Given the description of an element on the screen output the (x, y) to click on. 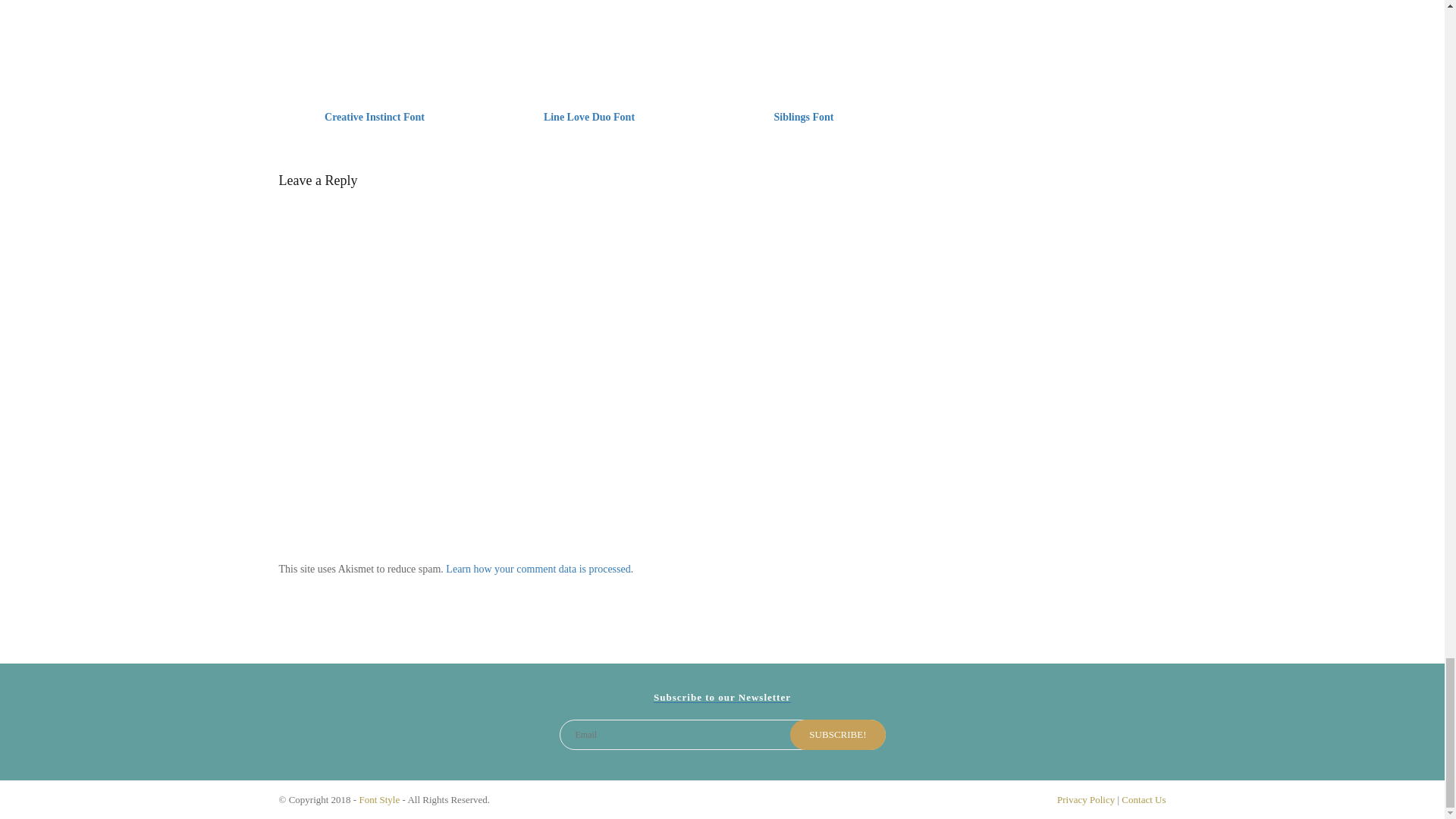
Subscribe! (837, 734)
Creative Instinct Font (374, 45)
Creative Instinct Font (374, 116)
